Given the description of an element on the screen output the (x, y) to click on. 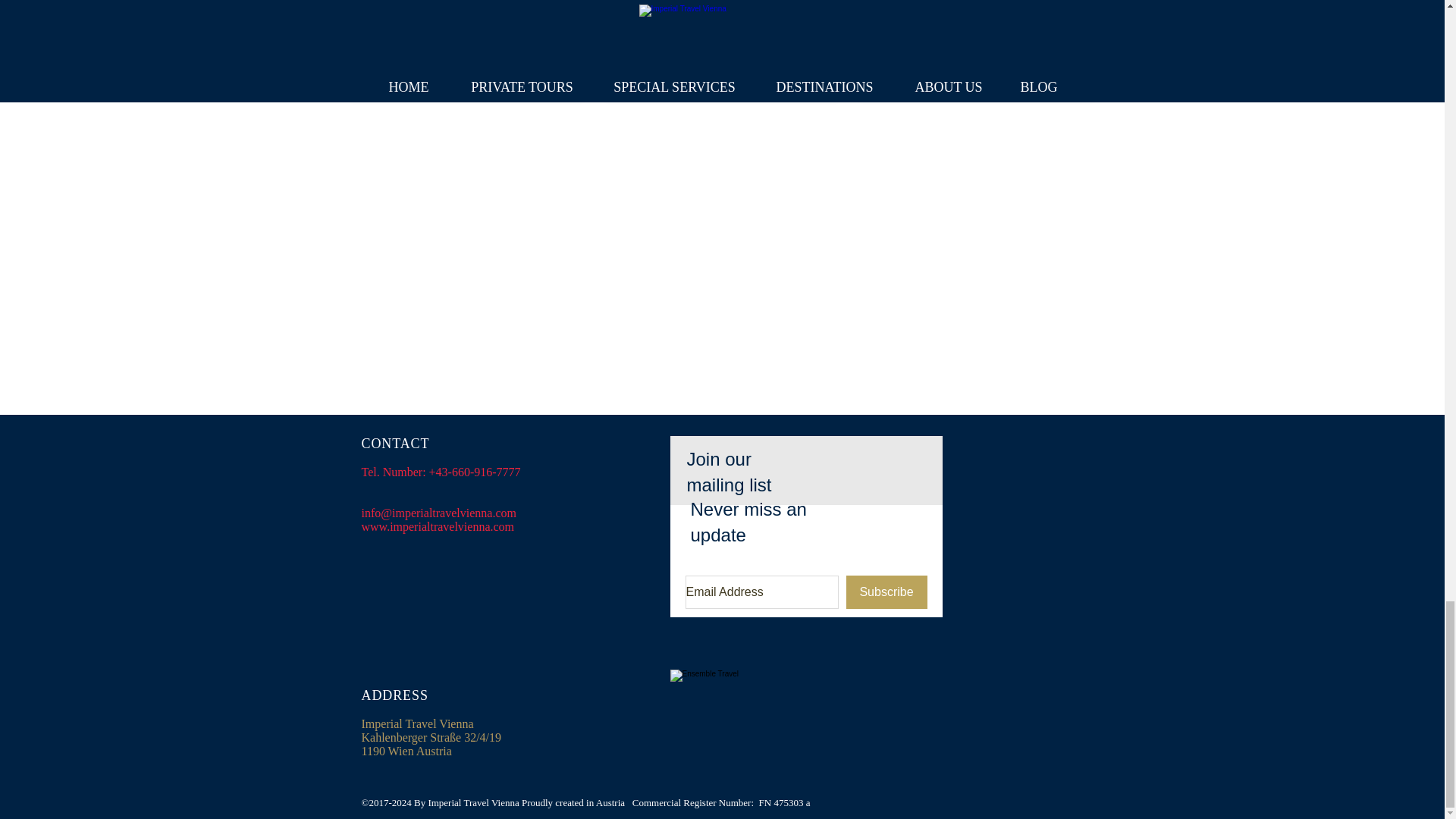
BOOK NOW (924, 64)
BOOK NOW (669, 64)
www.imperialtravelvienna.com (437, 526)
Learn More (1035, 64)
Learn More (780, 64)
Learn More (525, 64)
BOOK NOW (414, 64)
Subscribe (886, 592)
